Given the description of an element on the screen output the (x, y) to click on. 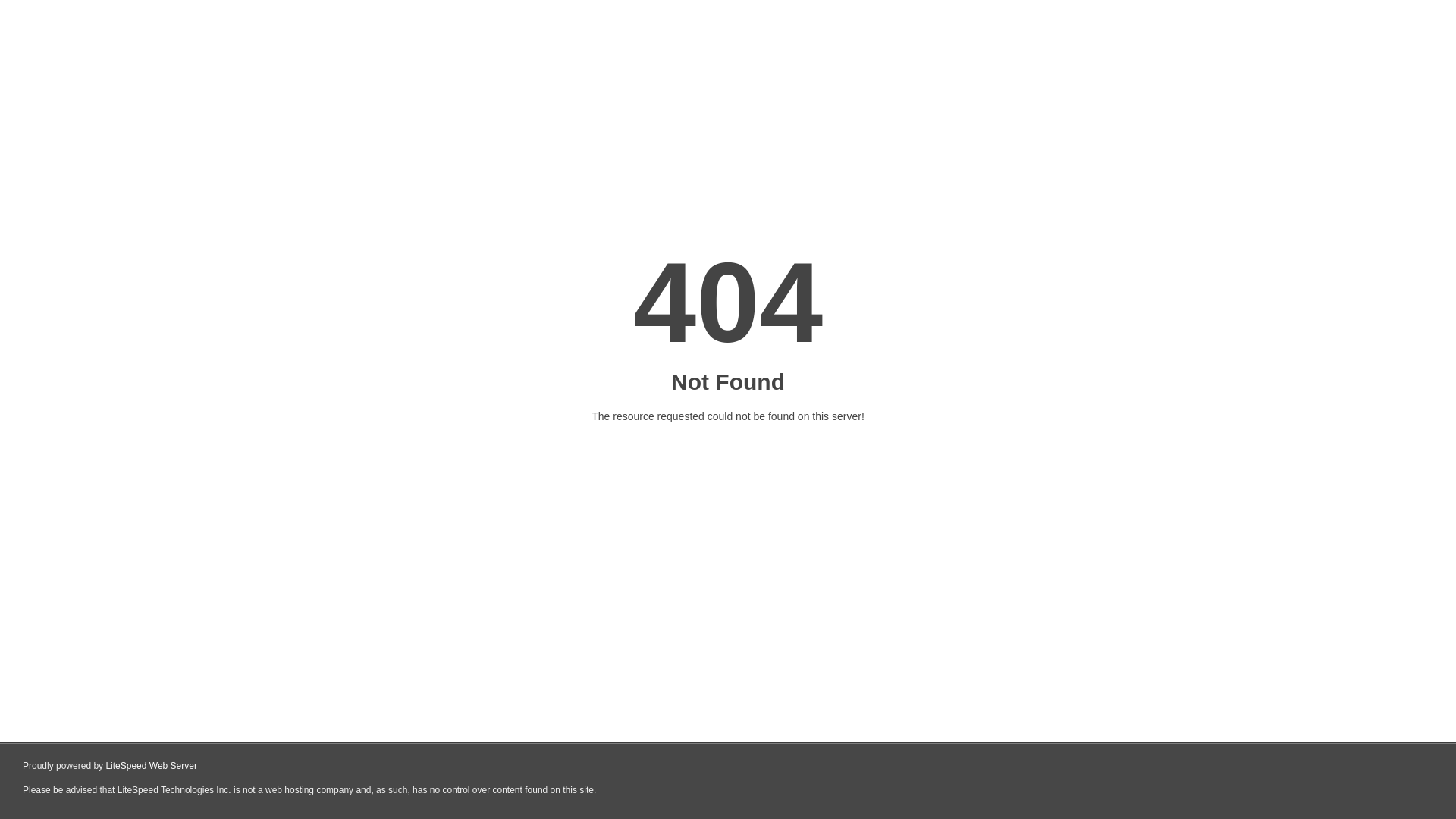
LiteSpeed Web Server Element type: text (151, 765)
